Given the description of an element on the screen output the (x, y) to click on. 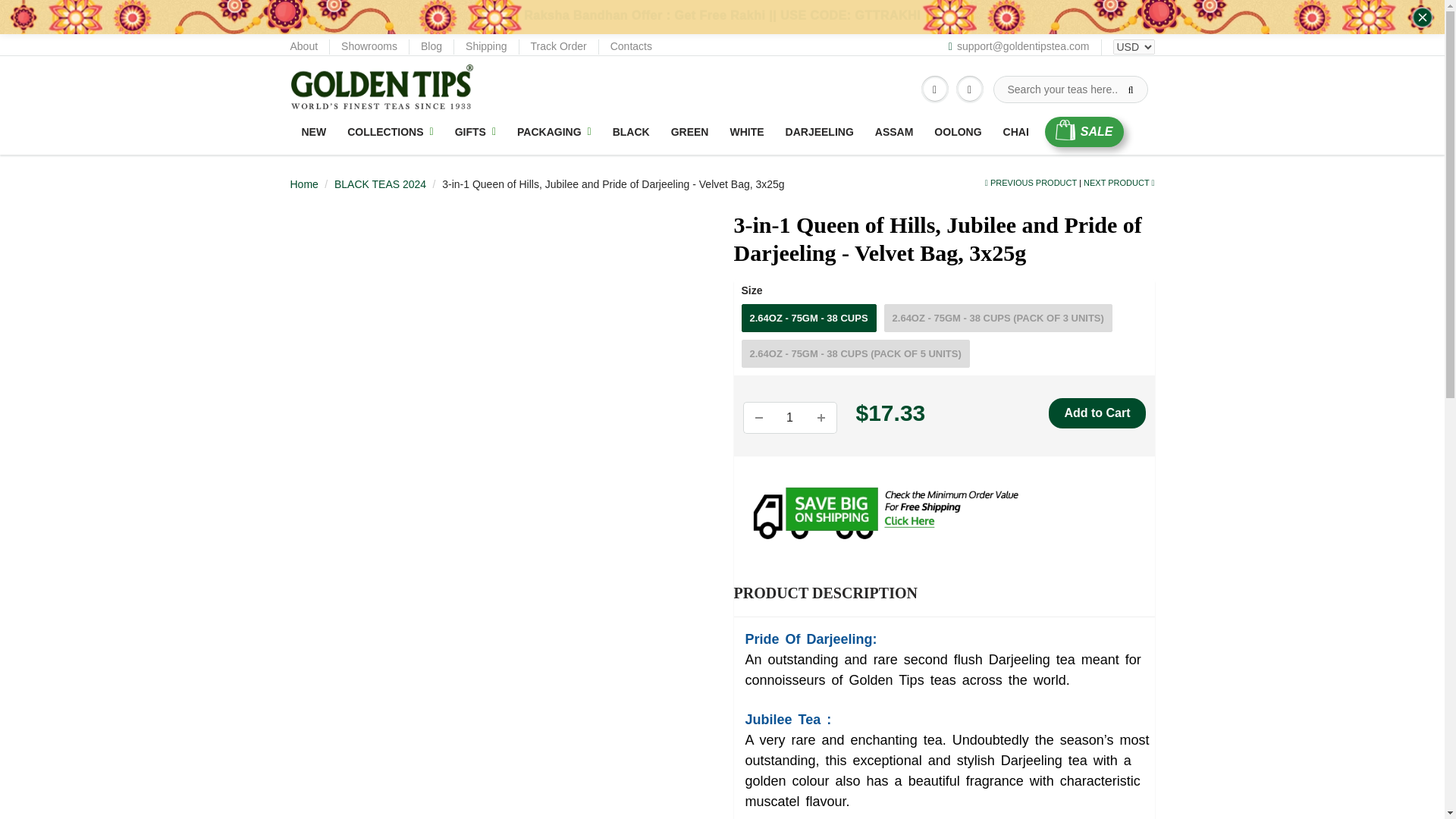
Showrooms (368, 46)
Add to Cart (1096, 413)
1 (789, 418)
About (303, 46)
Track Order (558, 46)
NEW (314, 132)
Shipping (485, 46)
Home (303, 184)
Contacts (631, 46)
Blog (431, 46)
